Given the description of an element on the screen output the (x, y) to click on. 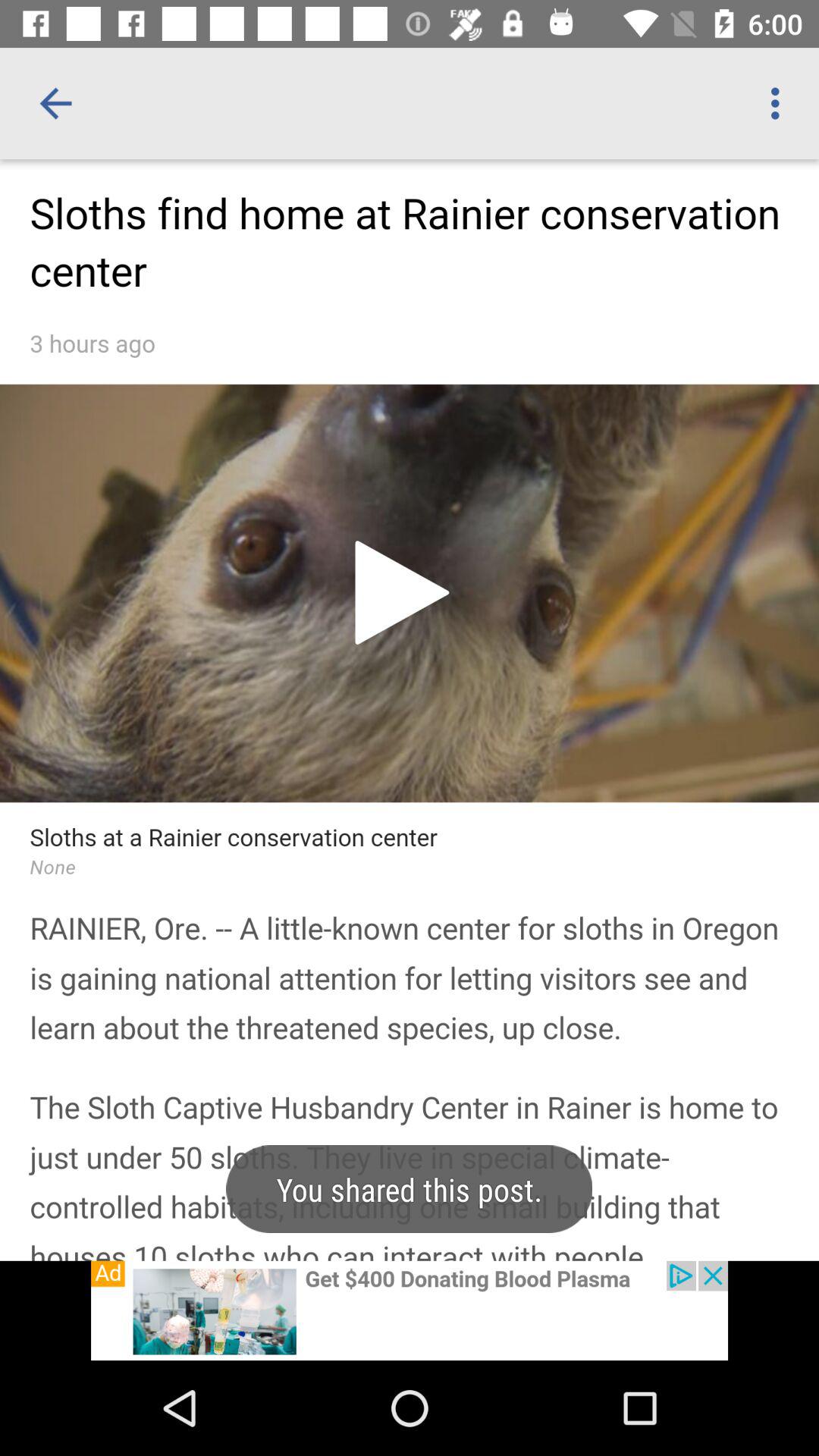
click advertisement (409, 1310)
